Given the description of an element on the screen output the (x, y) to click on. 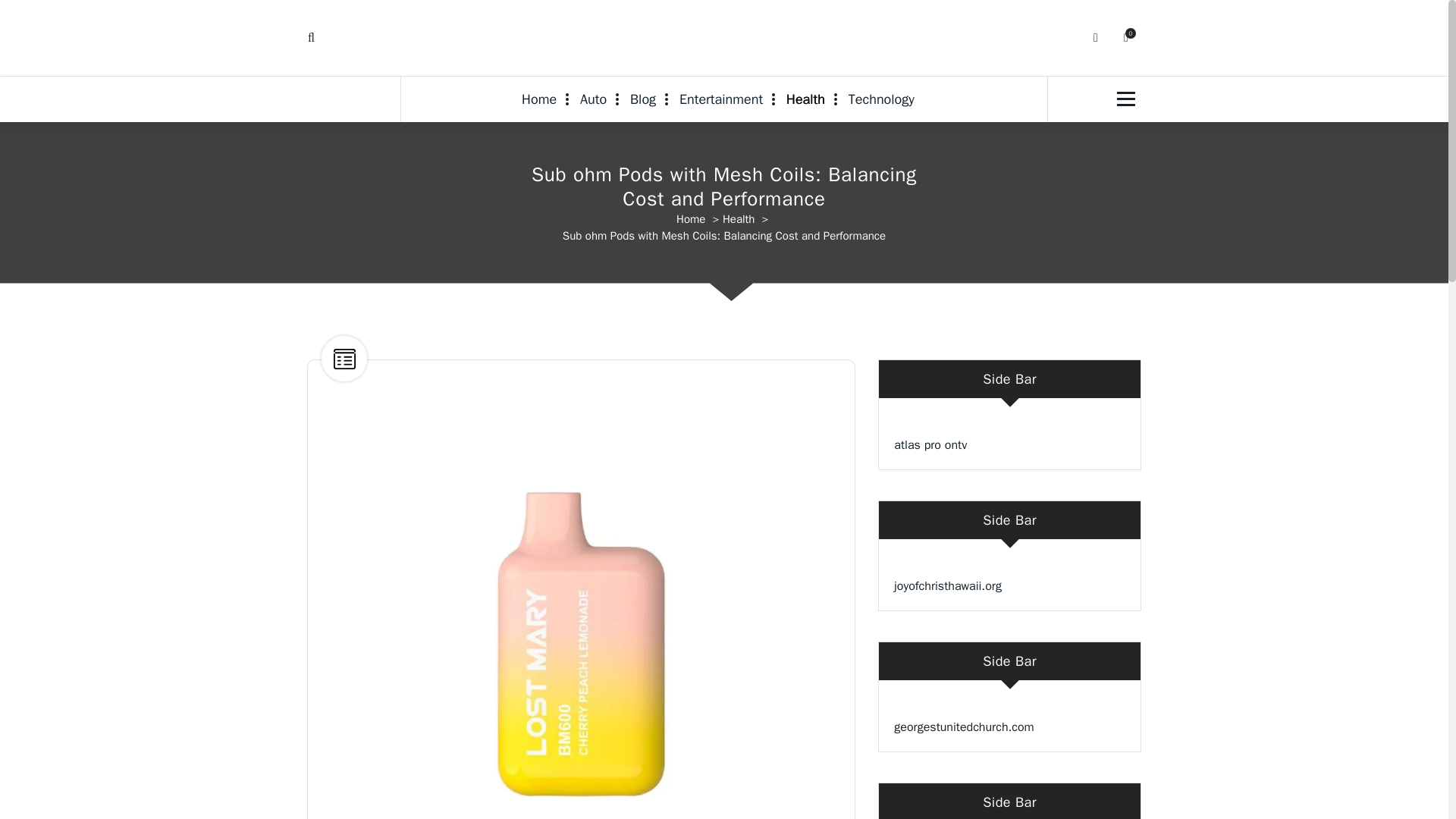
joyofchristhawaii.org (947, 585)
georgestunitedchurch.com (963, 726)
Technology (880, 99)
Health (805, 99)
Blog (642, 99)
Health (738, 219)
Entertainment (720, 99)
Entertainment (720, 99)
Home (545, 99)
Technology (880, 99)
Home (545, 99)
0 (1125, 37)
Auto (592, 99)
atlas pro ontv (929, 444)
Auto (592, 99)
